Given the description of an element on the screen output the (x, y) to click on. 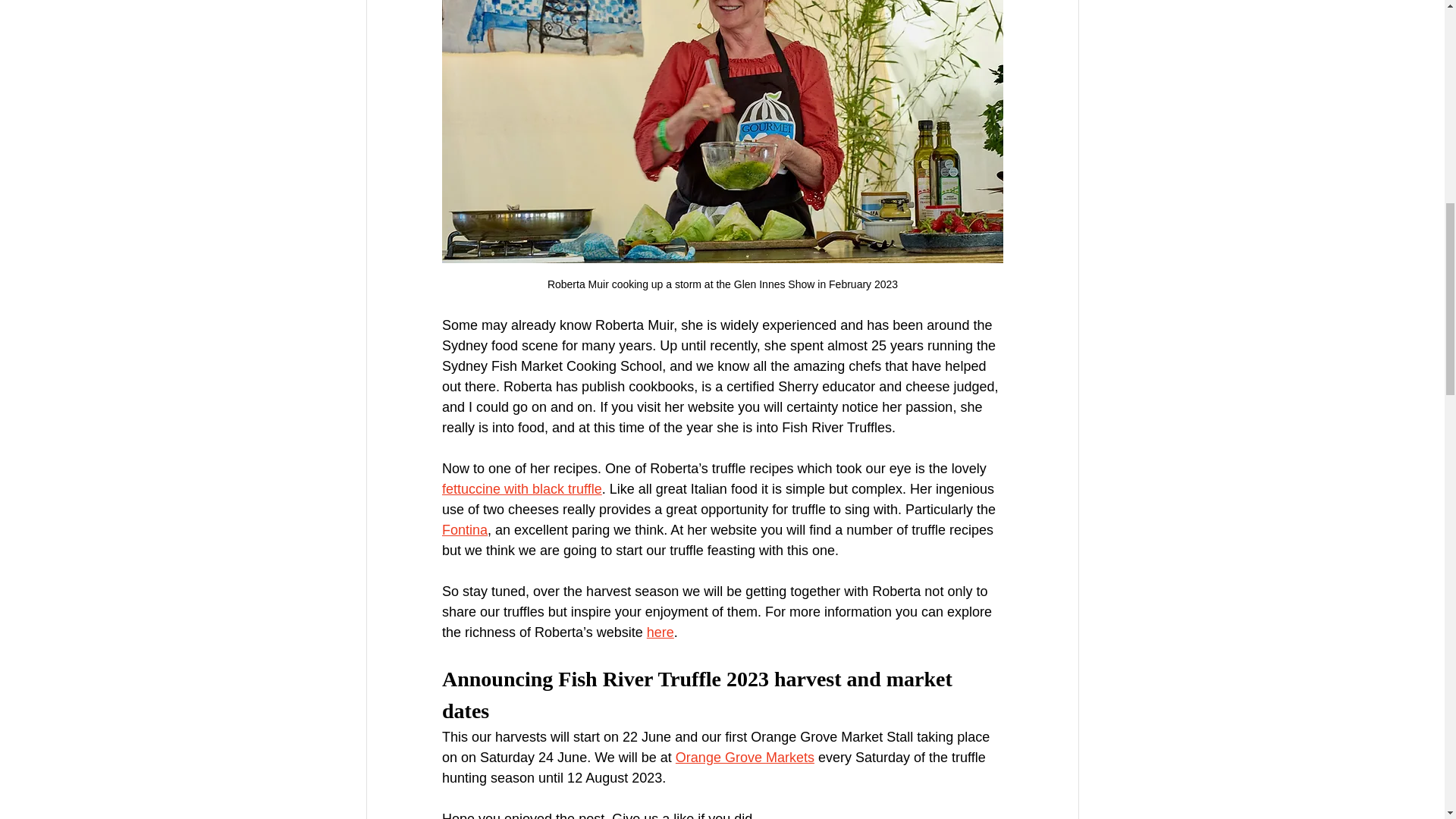
Orange Grove Markets (744, 757)
Fontina (463, 529)
fettuccine with black truffle (521, 488)
here (659, 631)
